Given the description of an element on the screen output the (x, y) to click on. 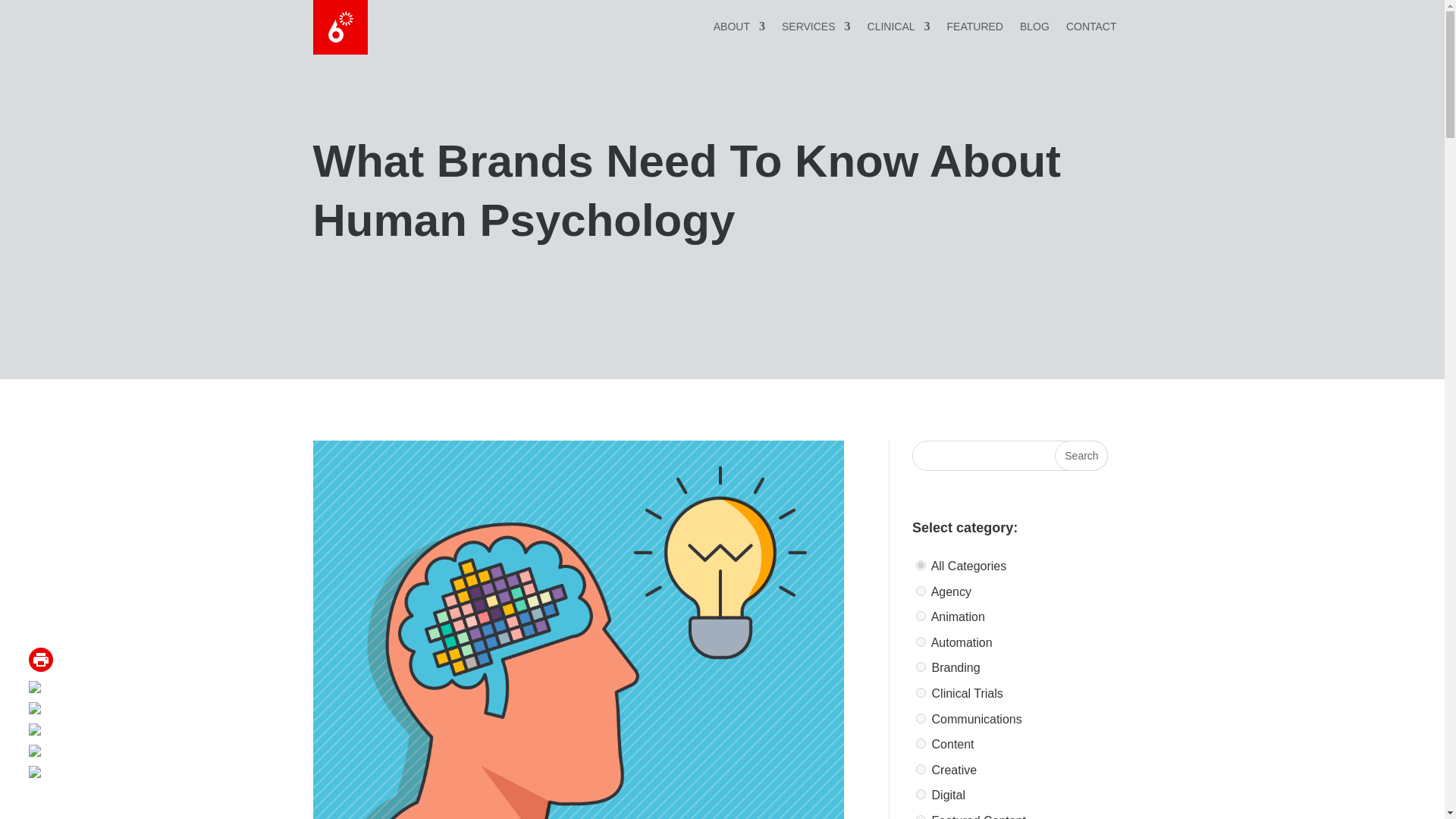
56 (920, 666)
144 (920, 816)
Search (1081, 455)
119 (920, 692)
107 (920, 768)
ABOUT (739, 29)
109 (920, 743)
SERVICES (815, 29)
BLOG (1034, 29)
55 (920, 591)
